Given the description of an element on the screen output the (x, y) to click on. 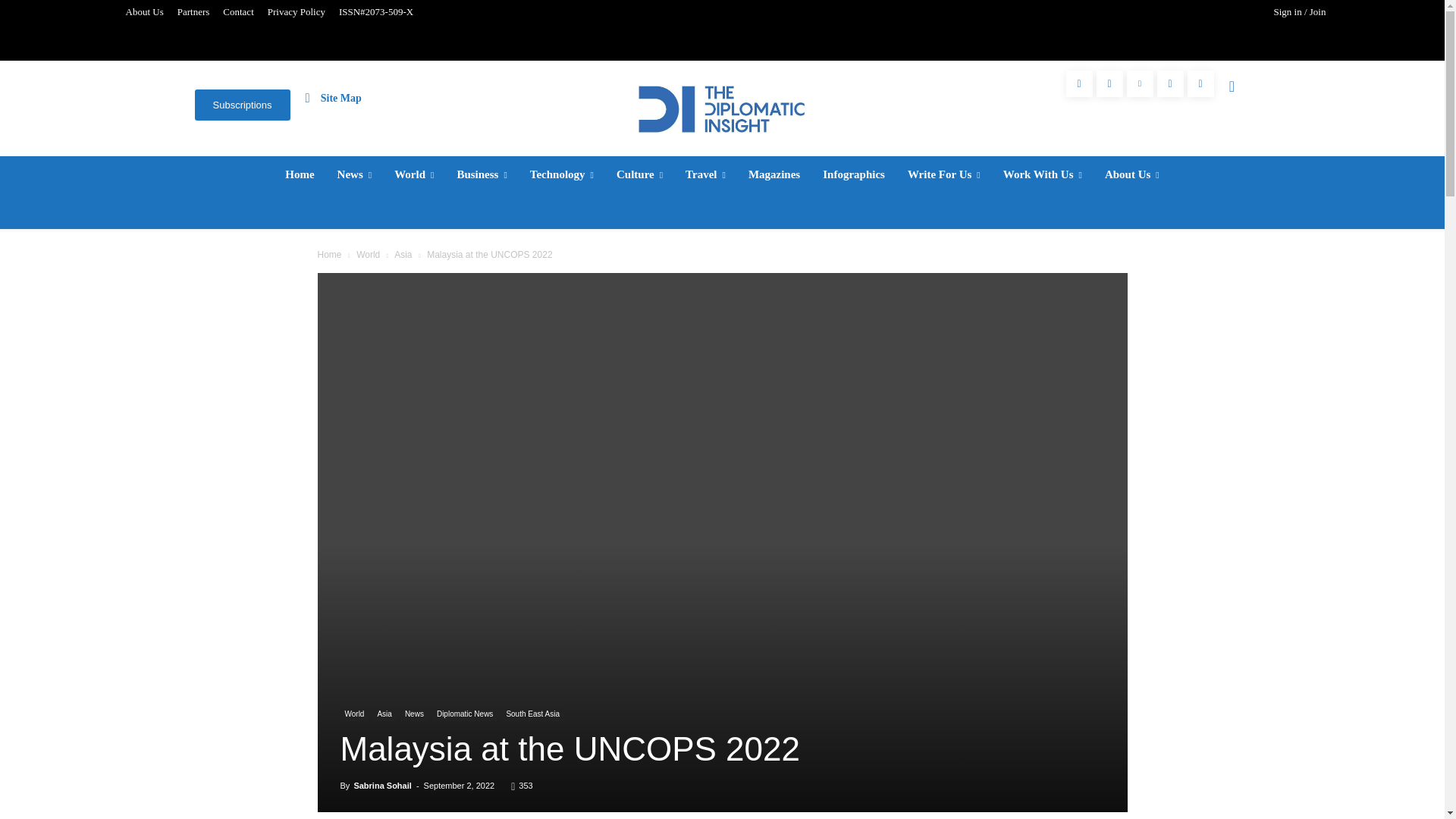
Instagram (1109, 82)
Site Map (333, 97)
Twitter (1170, 82)
Facebook (1079, 82)
View all posts in World (368, 254)
Linkedin (1139, 82)
View all posts in Asia (403, 254)
Subscriptions (241, 104)
Youtube (1201, 82)
